Given the description of an element on the screen output the (x, y) to click on. 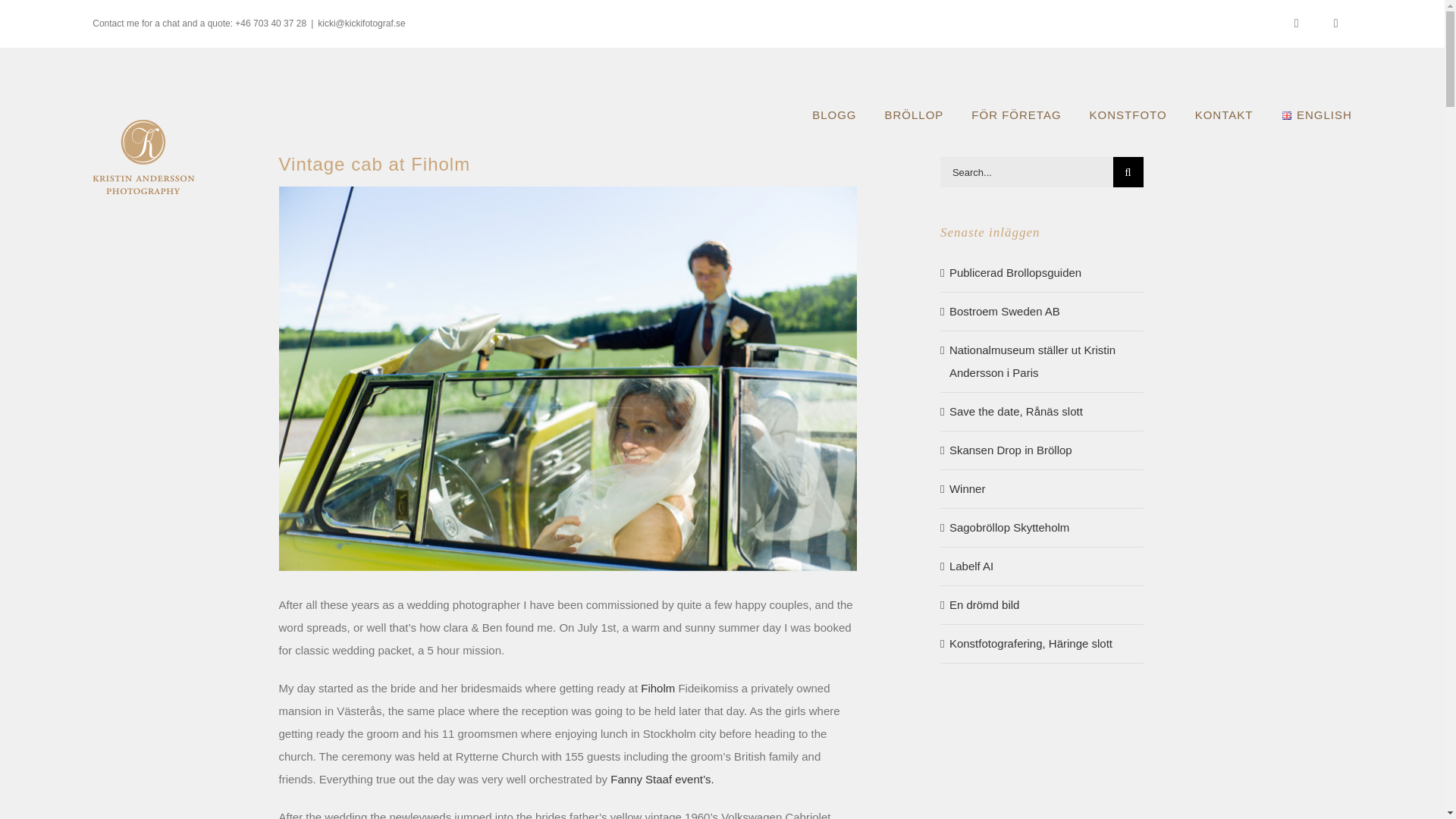
KONSTFOTO (1128, 114)
Facebook (1336, 23)
Fiholm (659, 687)
KONTAKT (1224, 114)
Bostroem Sweden AB (1004, 310)
Winner (967, 488)
Instagram (1297, 23)
Publicerad Brollopsguiden (1015, 272)
ENGLISH (1316, 114)
